Given the description of an element on the screen output the (x, y) to click on. 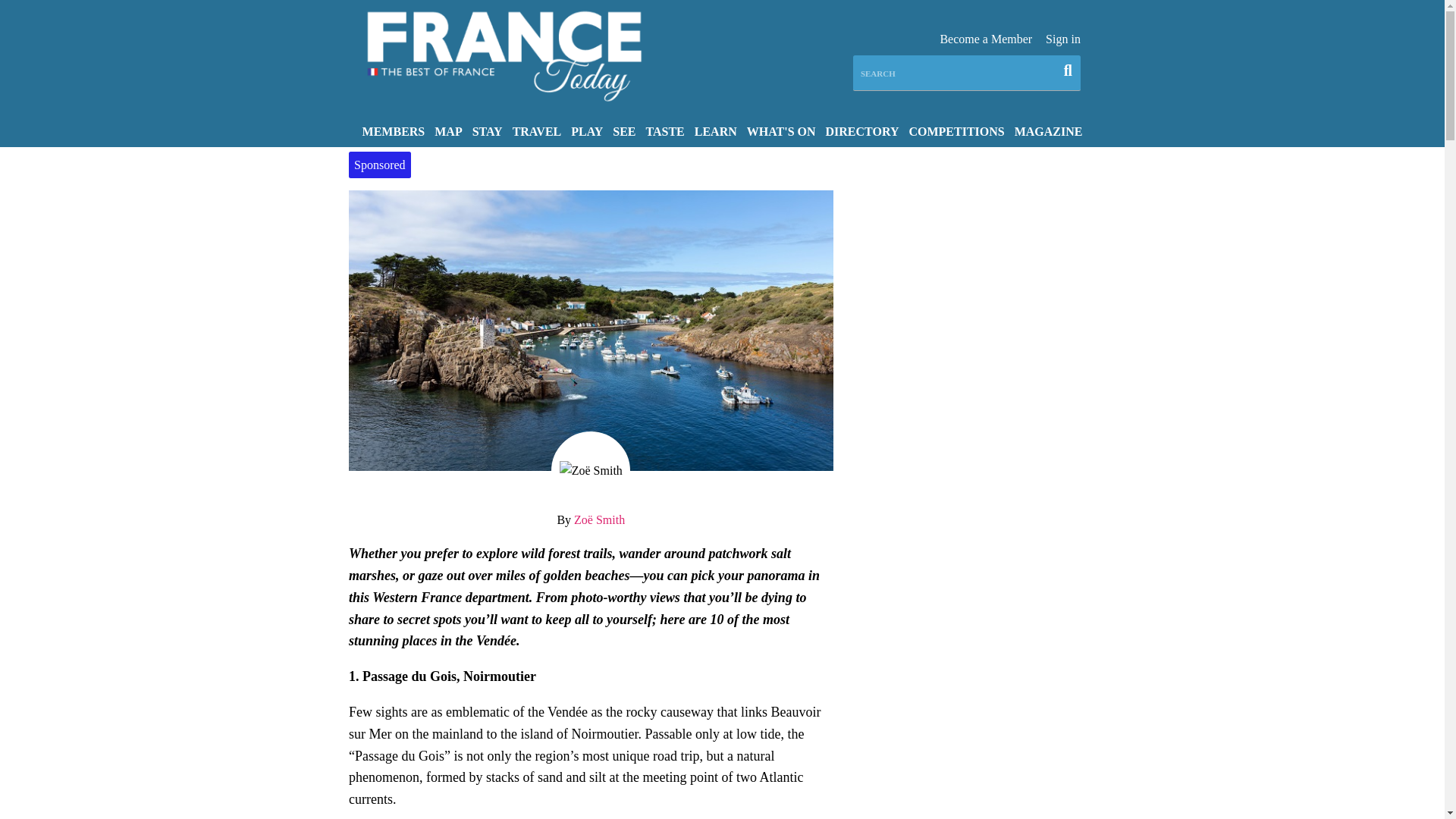
MEMBERS (393, 130)
STAY (486, 130)
Sign in (1062, 38)
MAP (447, 130)
TRAVEL (537, 130)
Become a Member (985, 38)
